Given the description of an element on the screen output the (x, y) to click on. 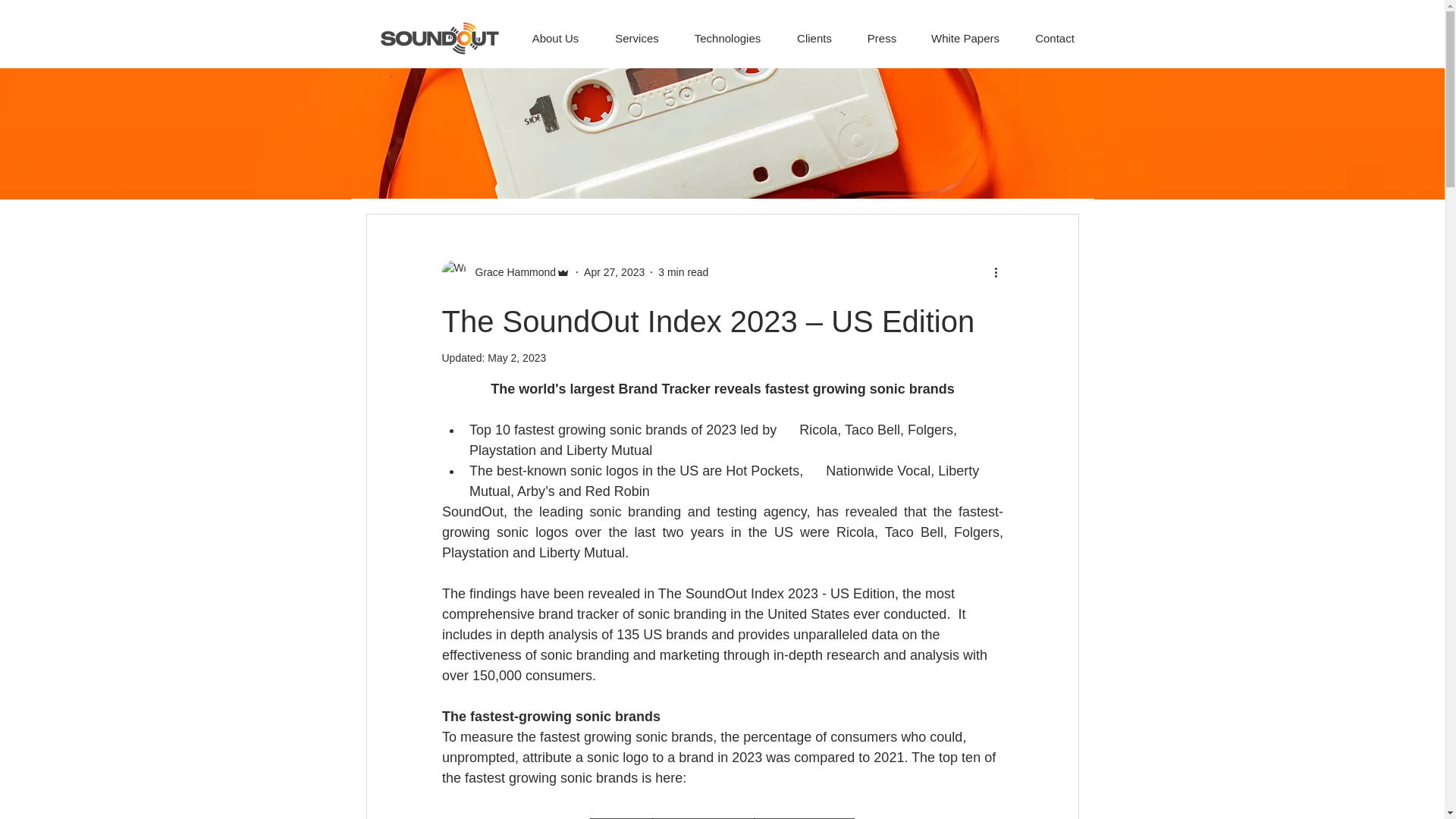
Services (636, 30)
Press (882, 30)
Clients (813, 30)
3 min read (682, 271)
Technologies (727, 30)
About Us (554, 30)
Contact (1055, 30)
White Papers (964, 30)
Apr 27, 2023 (614, 271)
Grace Hammond (510, 271)
